Given the description of an element on the screen output the (x, y) to click on. 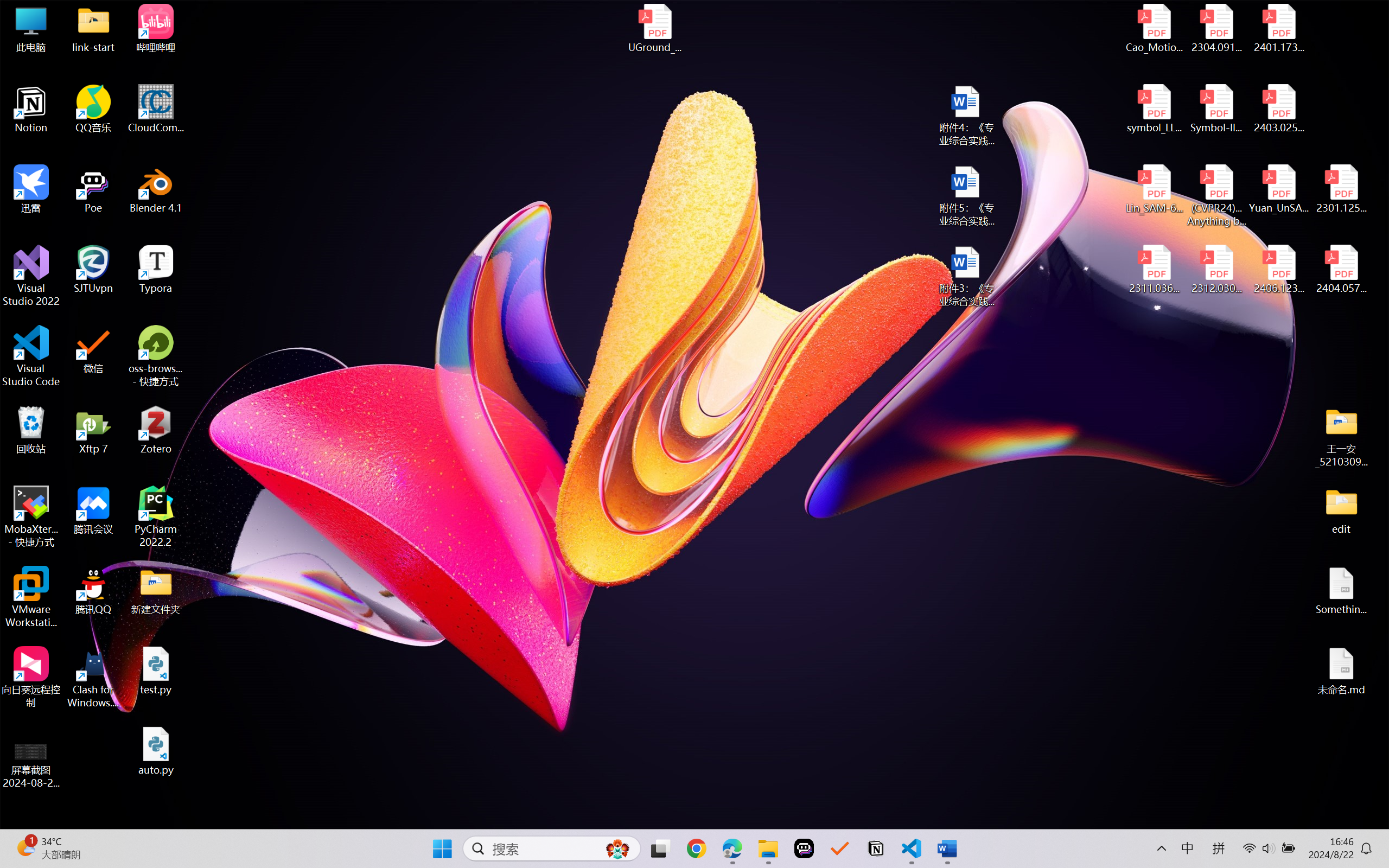
2403.02502v1.pdf (1278, 109)
2401.17399v1.pdf (1278, 28)
2304.09121v3.pdf (1216, 28)
